Given the description of an element on the screen output the (x, y) to click on. 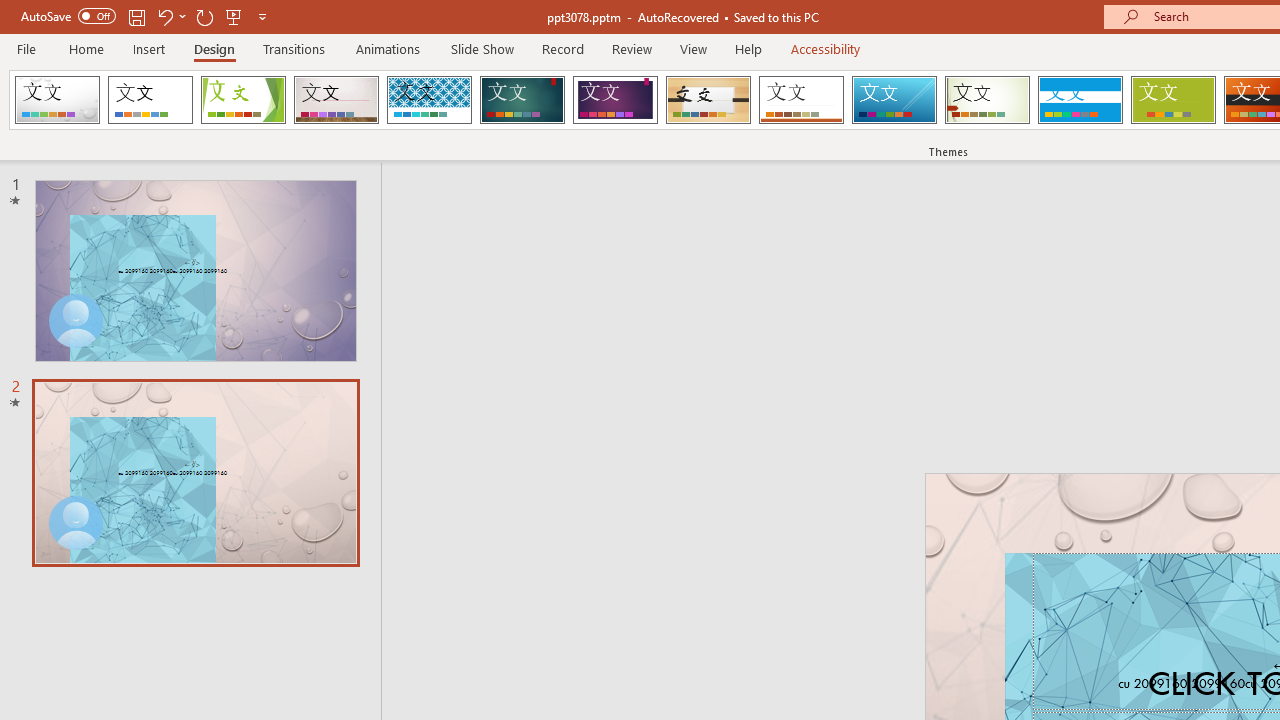
Facet (243, 100)
Wisp (987, 100)
Banded (1080, 100)
Ion (522, 100)
